Given the description of an element on the screen output the (x, y) to click on. 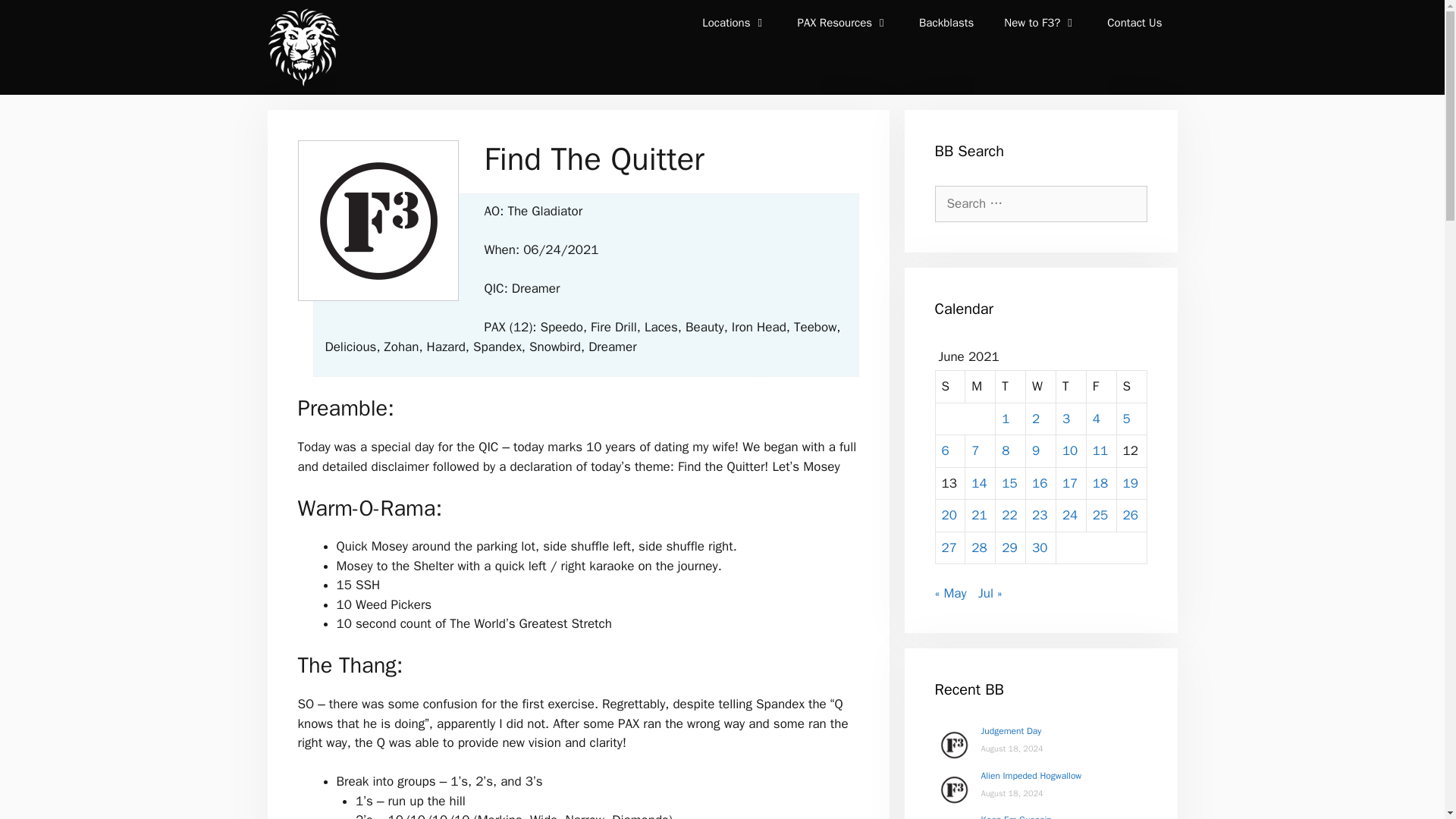
Wednesday (1041, 387)
PAX Resources (843, 22)
Friday (1101, 387)
Thursday (1071, 387)
New to F3? (1040, 22)
Sunday (951, 387)
Monday (980, 387)
Saturday (1131, 387)
F3Alpha (302, 47)
Locations (734, 22)
